Given the description of an element on the screen output the (x, y) to click on. 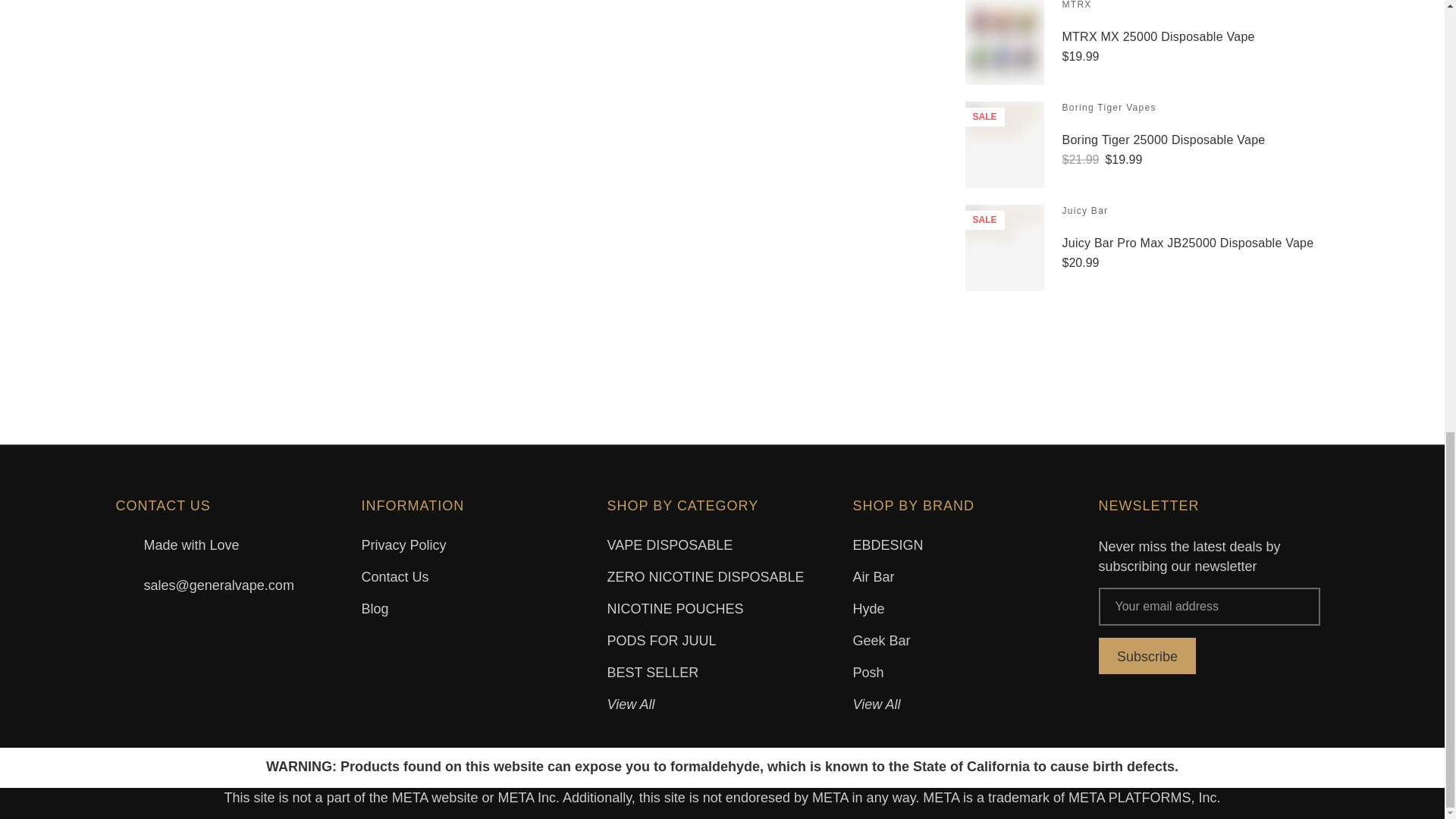
Subscribe (1146, 656)
